Given the description of an element on the screen output the (x, y) to click on. 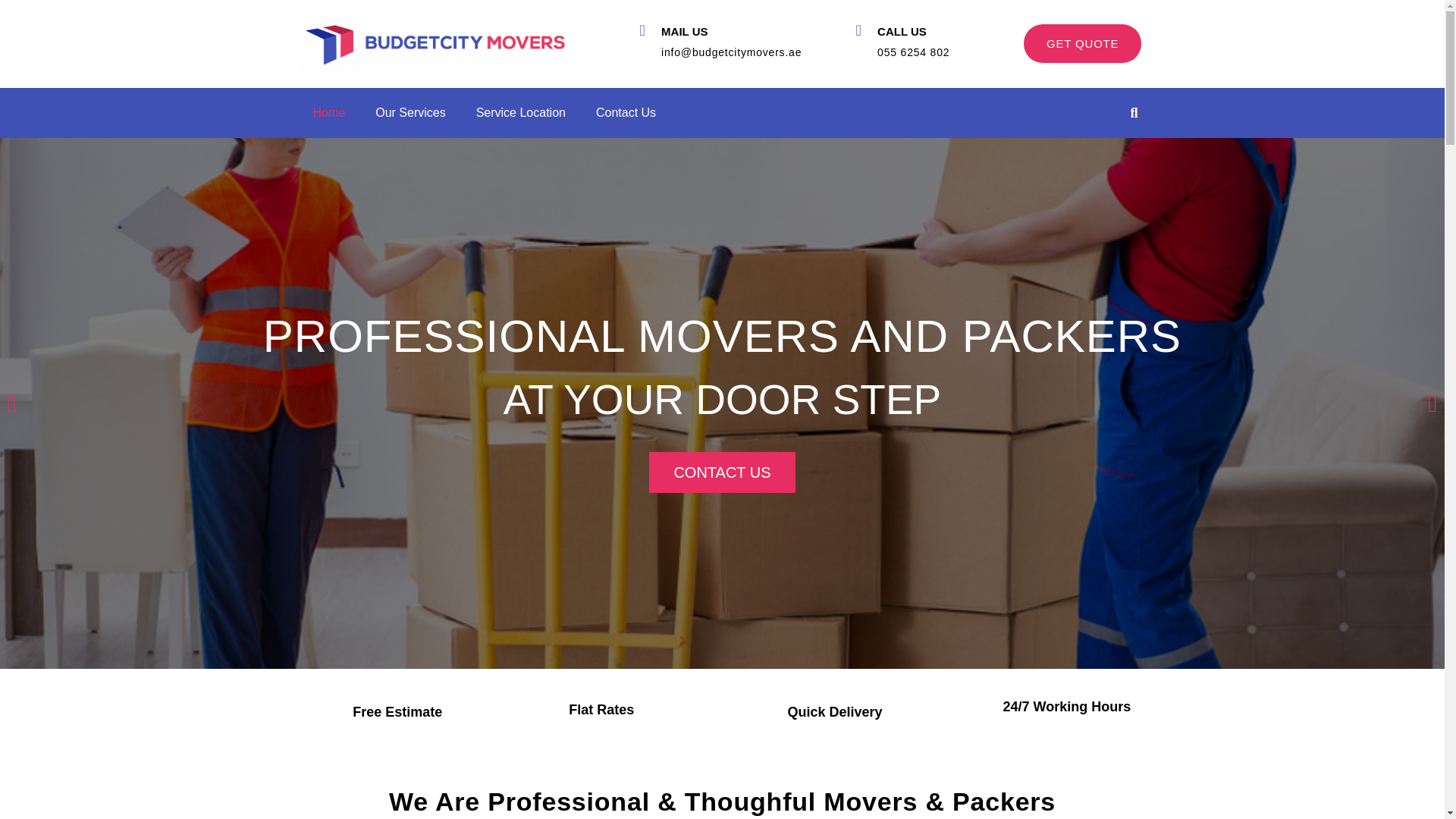
Contact Us (625, 112)
Our Services (409, 112)
Home (328, 112)
GET QUOTE (1082, 43)
Service Location (520, 112)
